Given the description of an element on the screen output the (x, y) to click on. 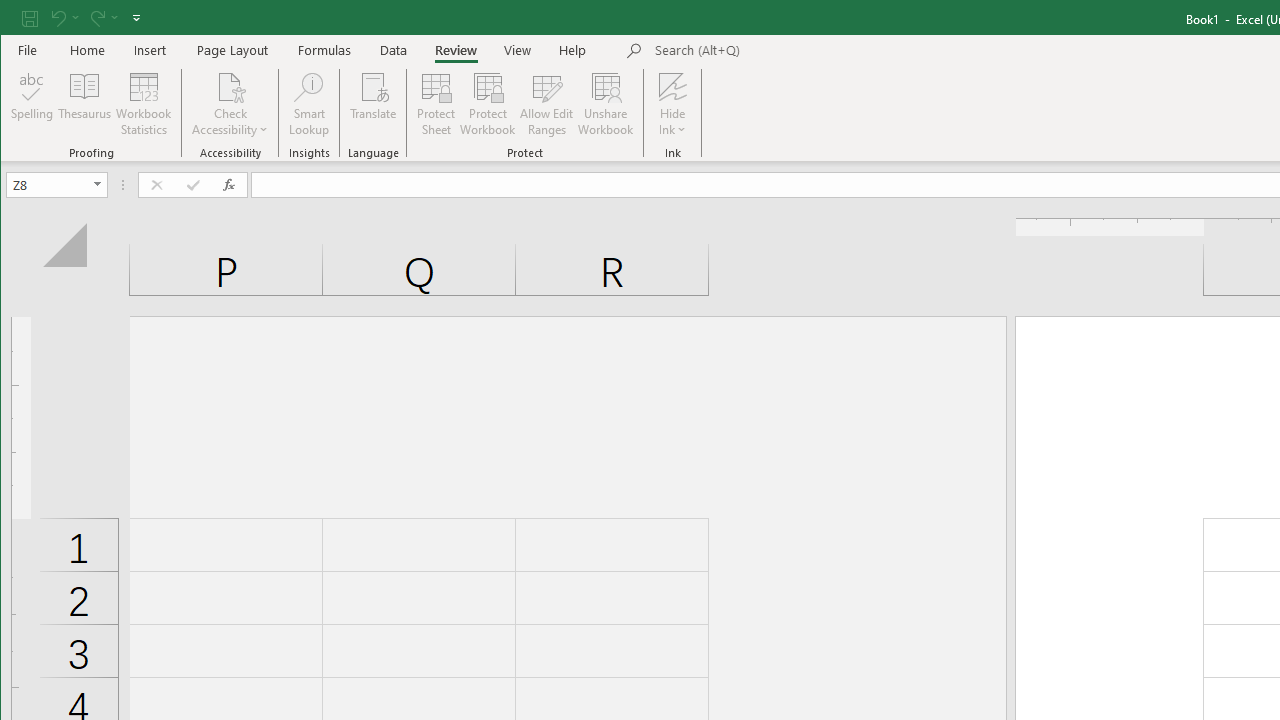
Customize Quick Access Toolbar (136, 17)
Undo (57, 17)
System (18, 18)
Thesaurus... (84, 104)
Review (456, 50)
View (518, 50)
Home (87, 50)
